Given the description of an element on the screen output the (x, y) to click on. 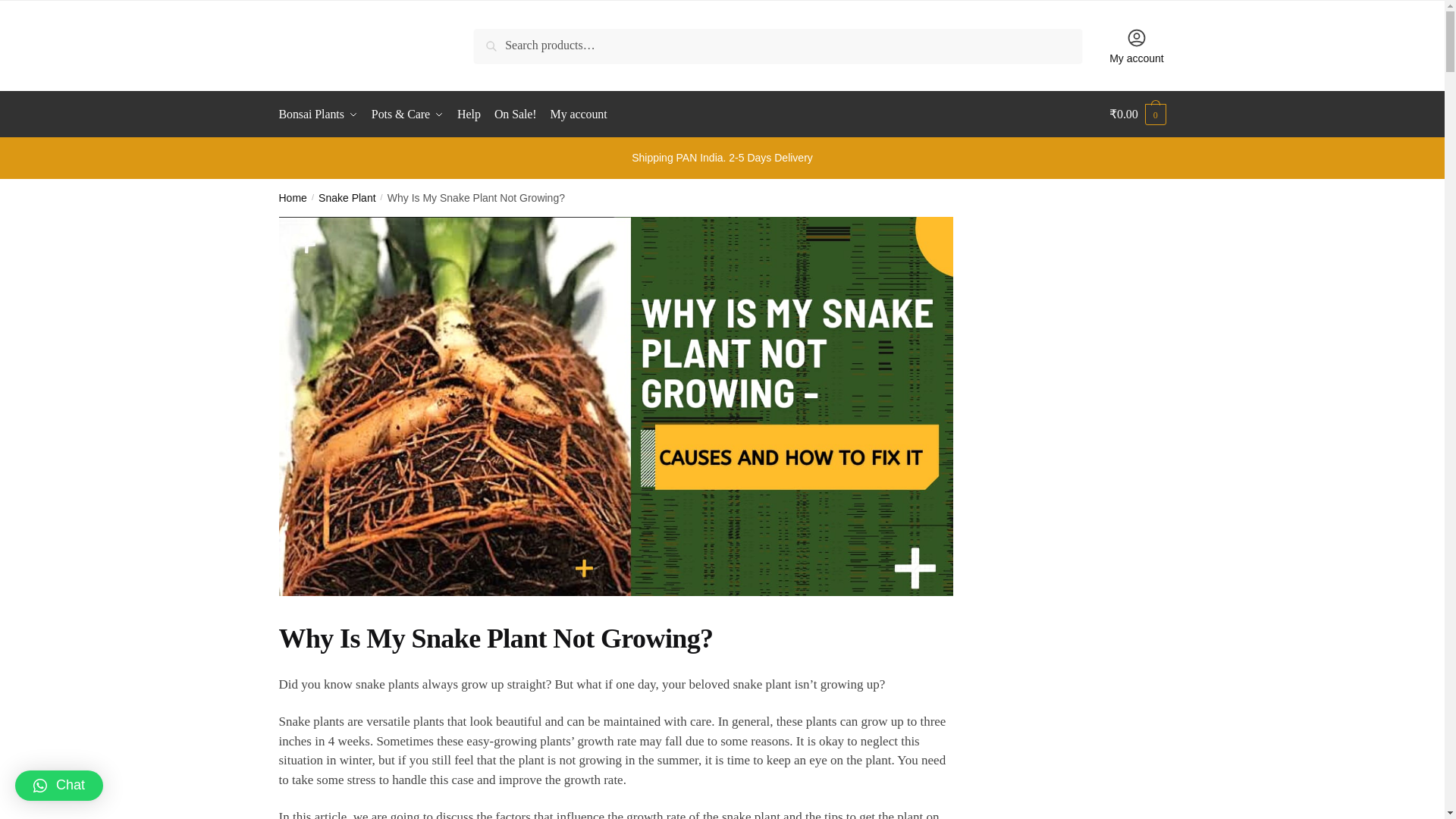
Snake Plant (346, 197)
Search (495, 38)
My account (578, 114)
View your shopping cart (1137, 114)
On Sale! (515, 114)
Bonsai Plants (322, 114)
My account (1136, 45)
Home (293, 197)
